Given the description of an element on the screen output the (x, y) to click on. 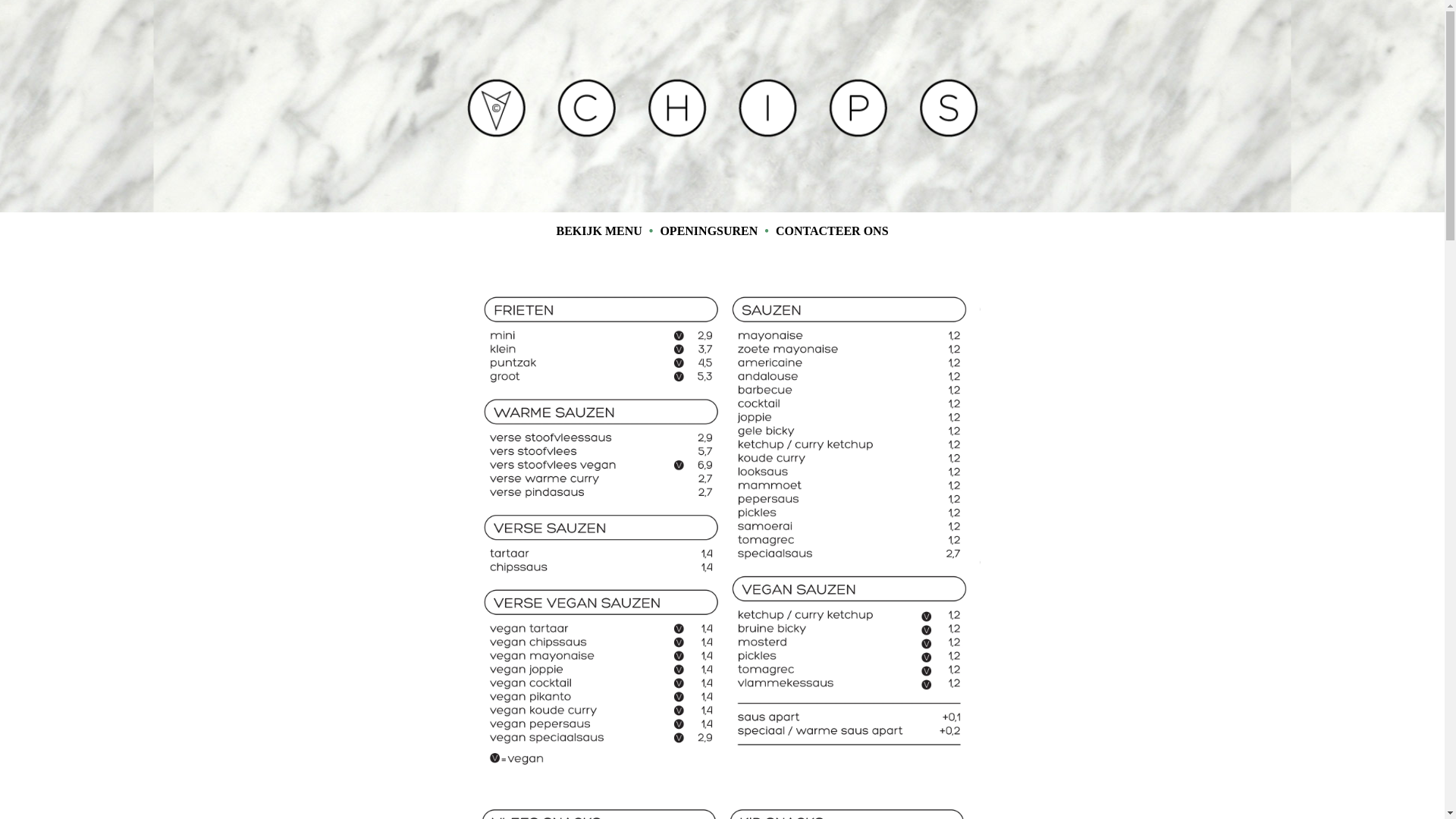
CONTACTEER ONS Element type: text (831, 231)
OPENINGSUREN Element type: text (708, 231)
BEKIJK MENU Element type: text (598, 231)
